Given the description of an element on the screen output the (x, y) to click on. 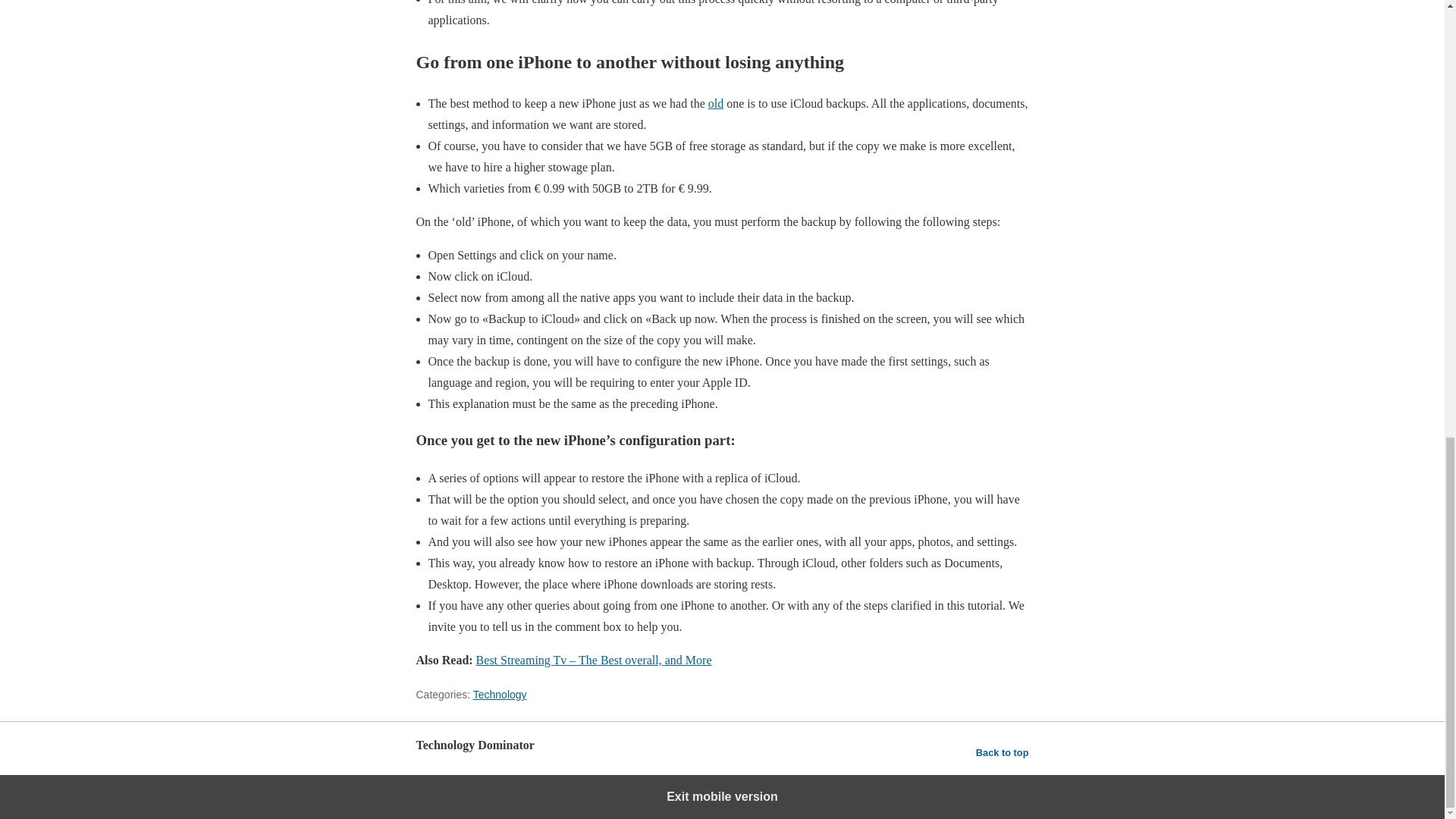
Technology (500, 694)
old (715, 103)
Back to top (1002, 752)
